Given the description of an element on the screen output the (x, y) to click on. 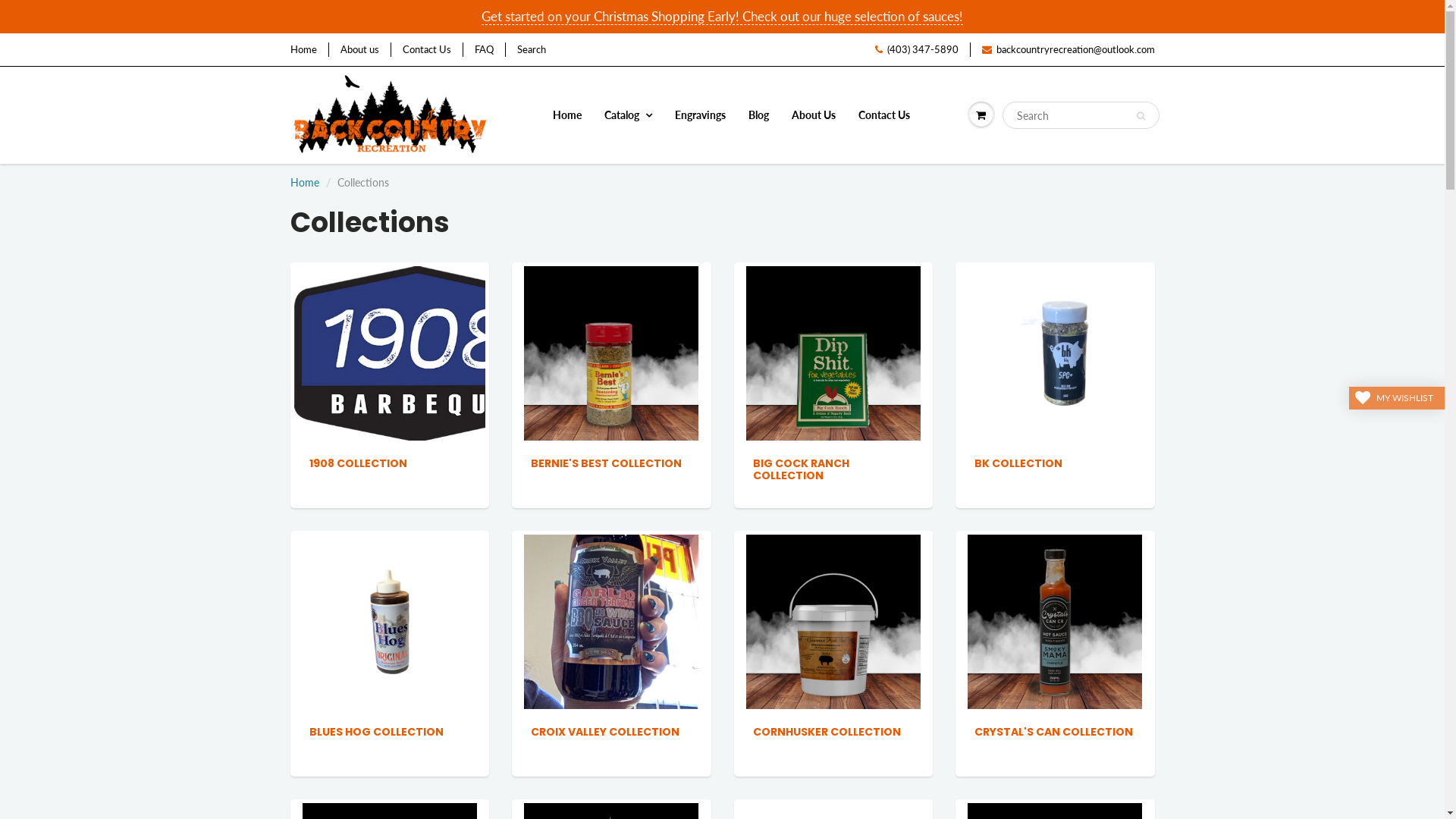
Search Element type: text (531, 49)
Browse our Blues Hog Collection collection Element type: hover (389, 620)
Home Element type: text (303, 181)
Browse our BK Collection collection Element type: hover (1054, 351)
Browse our 1908 Collection collection Element type: hover (416, 351)
CORNHUSKER COLLECTION Element type: text (826, 731)
MY WISHLIST Element type: text (1396, 397)
1908 COLLECTION Element type: text (358, 462)
Engravings Element type: text (700, 115)
Search Element type: text (1140, 115)
CROIX VALLEY COLLECTION Element type: text (604, 731)
Blog Element type: text (758, 115)
CRYSTAL'S CAN COLLECTION Element type: text (1053, 731)
Browse our Bernie's Best Collection collection Element type: hover (611, 351)
FAQ Element type: text (483, 49)
BIG COCK RANCH COLLECTION Element type: text (800, 469)
BLUES HOG COLLECTION Element type: text (376, 731)
(403) 347-5890 Element type: text (916, 49)
Browse our Cornhusker Collection collection Element type: hover (833, 620)
Home Element type: text (302, 49)
Contact Us Element type: text (425, 49)
Browse our Croix Valley Collection collection Element type: hover (611, 620)
Browse our Big Cock Ranch Collection collection Element type: hover (833, 351)
About Us Element type: text (813, 115)
BK COLLECTION Element type: text (1018, 462)
Browse our Crystal's Can Collection collection Element type: hover (1054, 620)
About us Element type: text (358, 49)
backcountryrecreation@outlook.com Element type: text (1067, 49)
BERNIE'S BEST COLLECTION Element type: text (605, 462)
Catalog Element type: text (628, 115)
Contact Us Element type: text (884, 115)
Home Element type: text (567, 115)
